Given the description of an element on the screen output the (x, y) to click on. 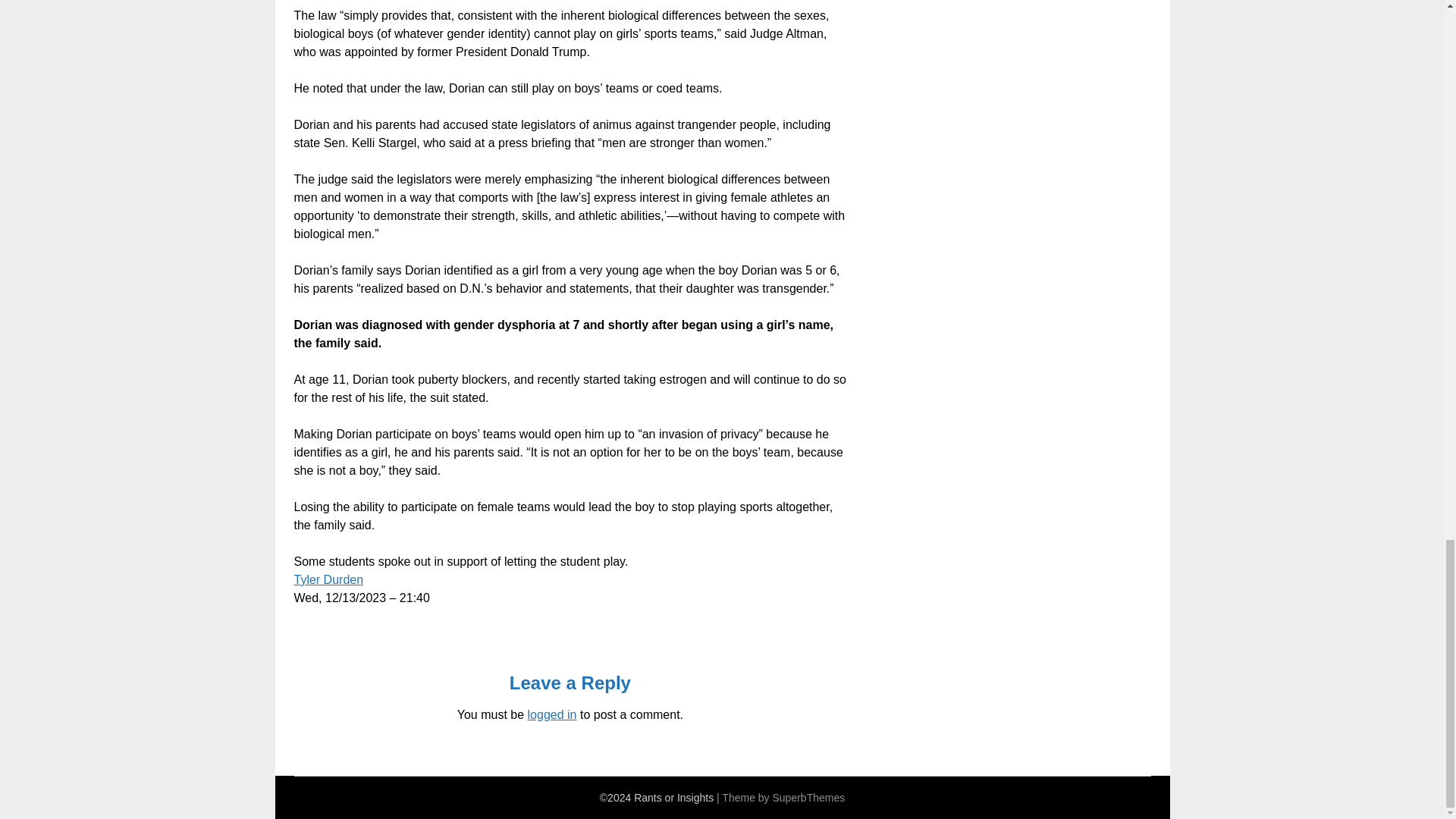
SuperbThemes (807, 797)
logged in (551, 714)
View user profile. (329, 579)
Tyler Durden (329, 579)
